Given the description of an element on the screen output the (x, y) to click on. 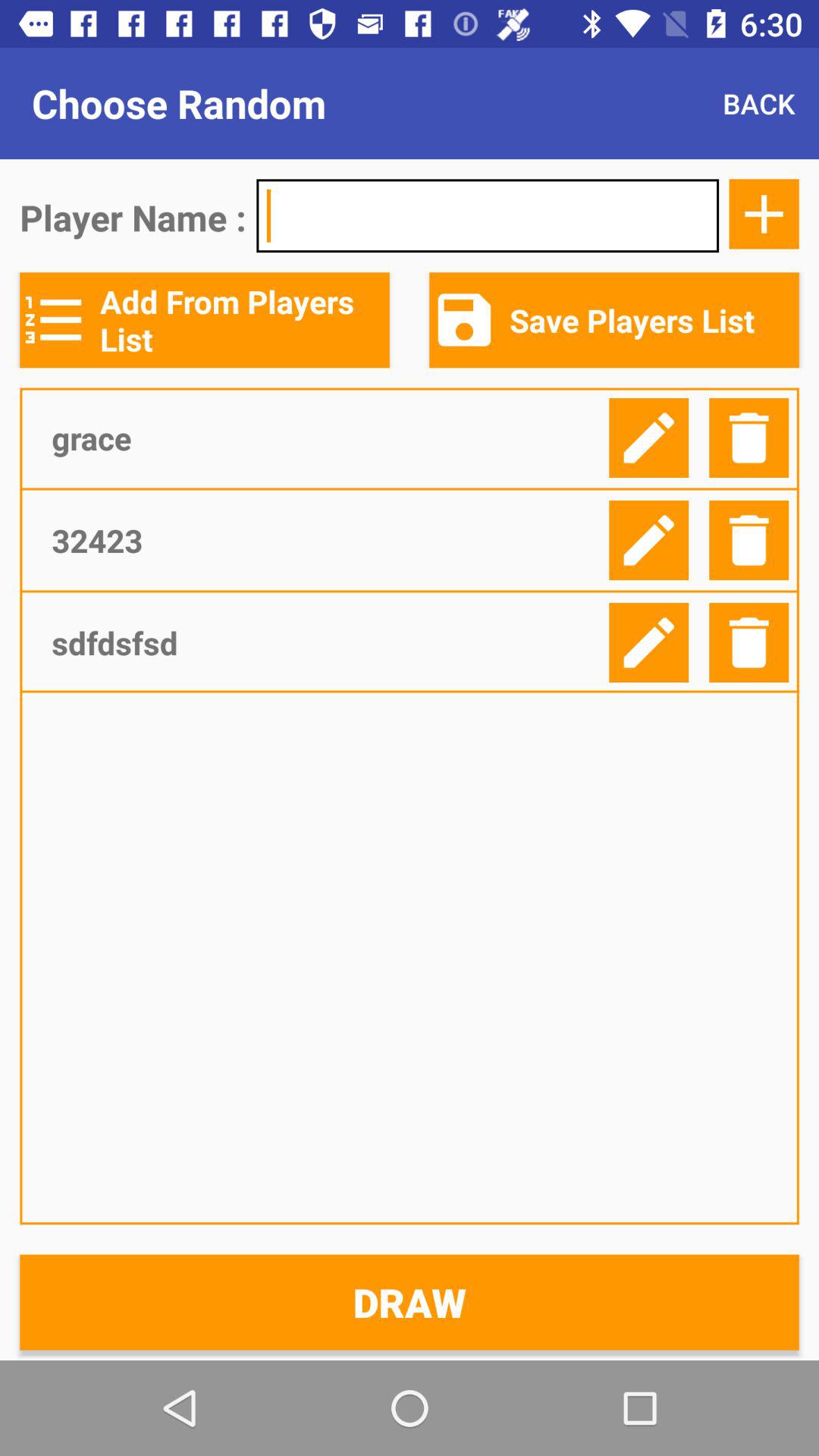
delete (748, 437)
